Given the description of an element on the screen output the (x, y) to click on. 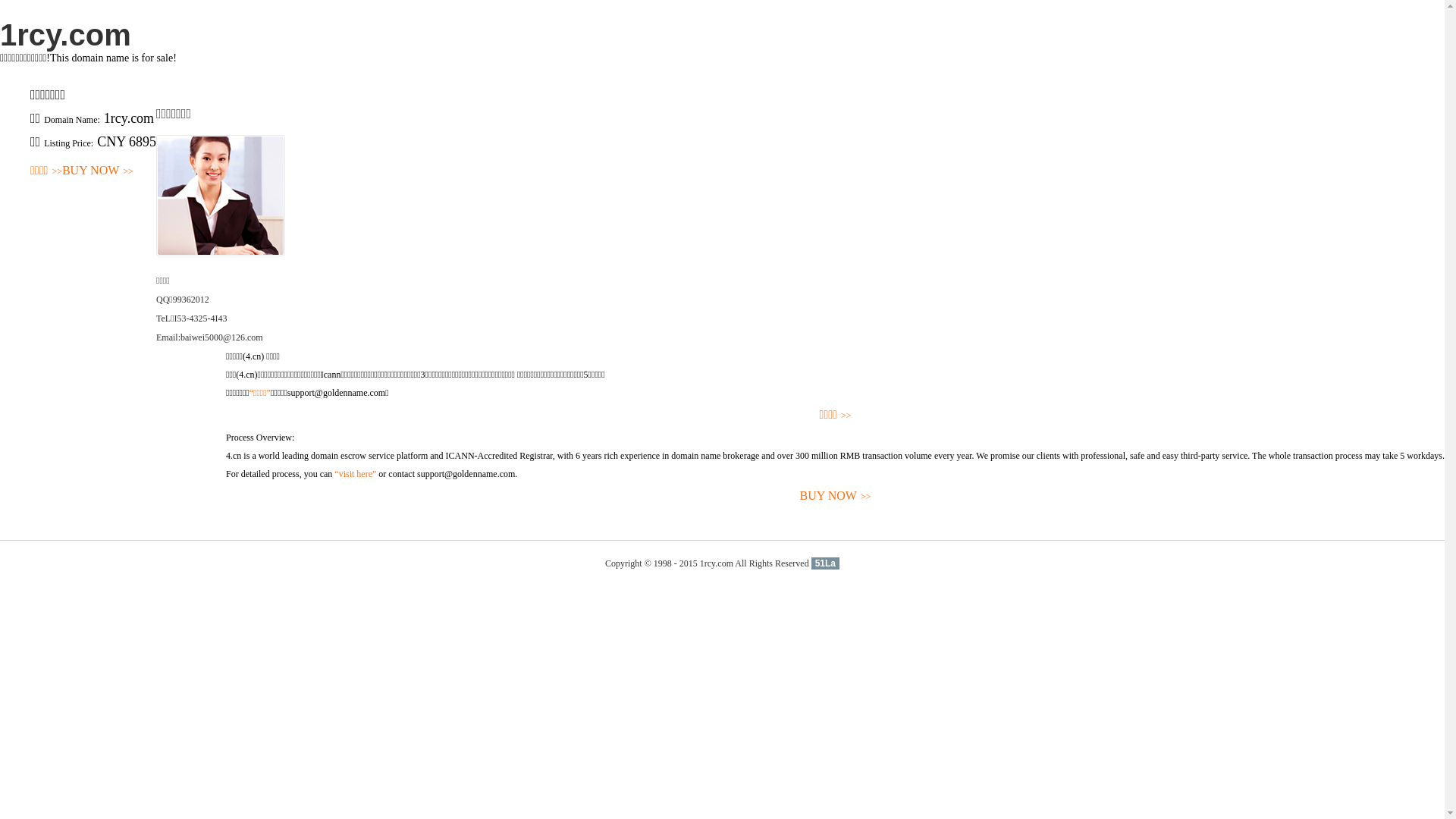
BUY NOW>> Element type: text (97, 170)
51La Element type: text (825, 563)
BUY NOW>> Element type: text (834, 496)
